Given the description of an element on the screen output the (x, y) to click on. 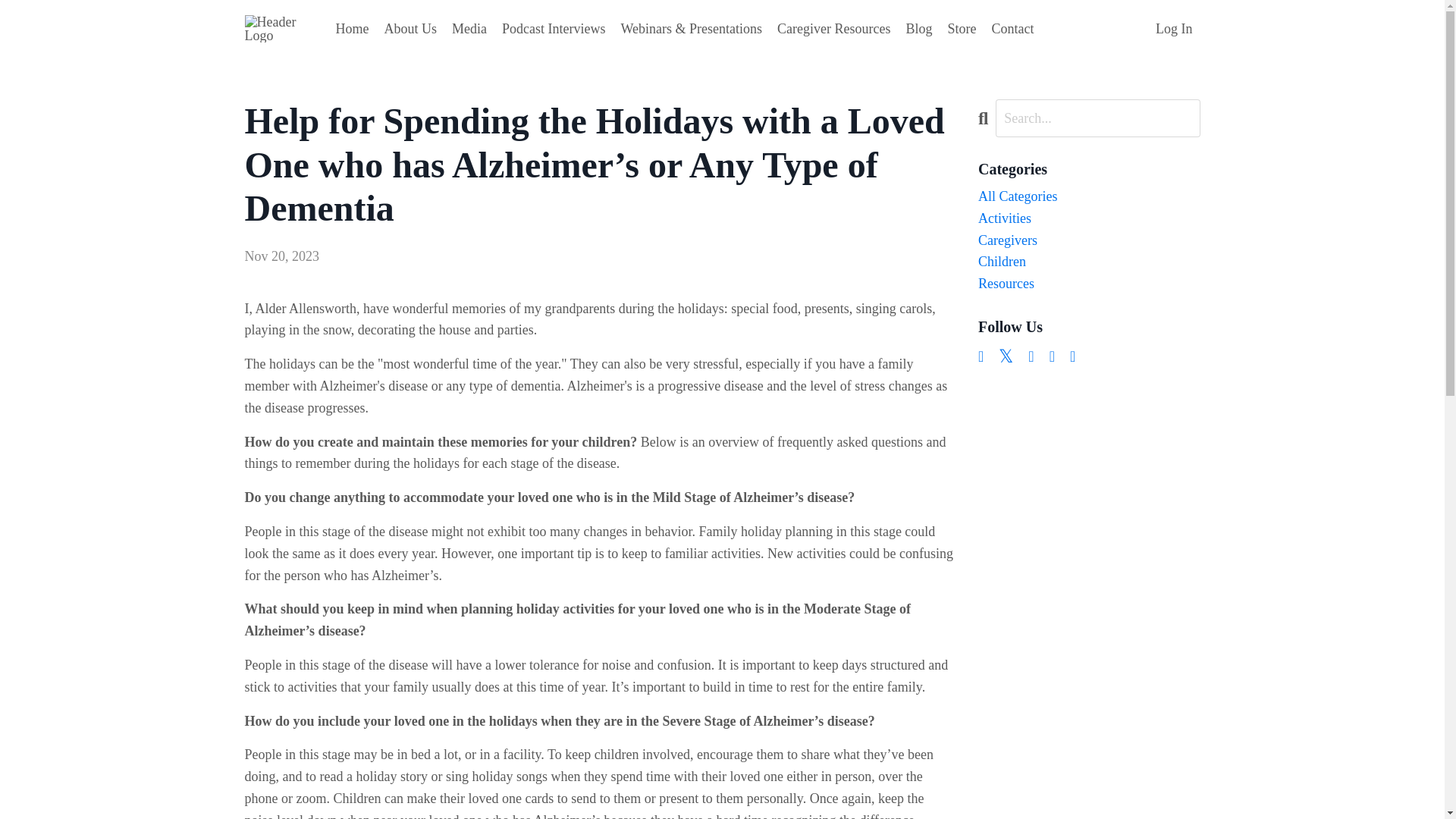
Podcast Interviews (553, 29)
Media (468, 29)
Blog (918, 29)
Caregiver Resources (833, 29)
Children (1088, 261)
Caregivers (1088, 240)
All Categories (1088, 196)
Activities (1088, 219)
Home (351, 29)
About Us (410, 29)
Contact (1012, 29)
Log In (1174, 28)
Store (961, 29)
Resources (1088, 283)
